Given the description of an element on the screen output the (x, y) to click on. 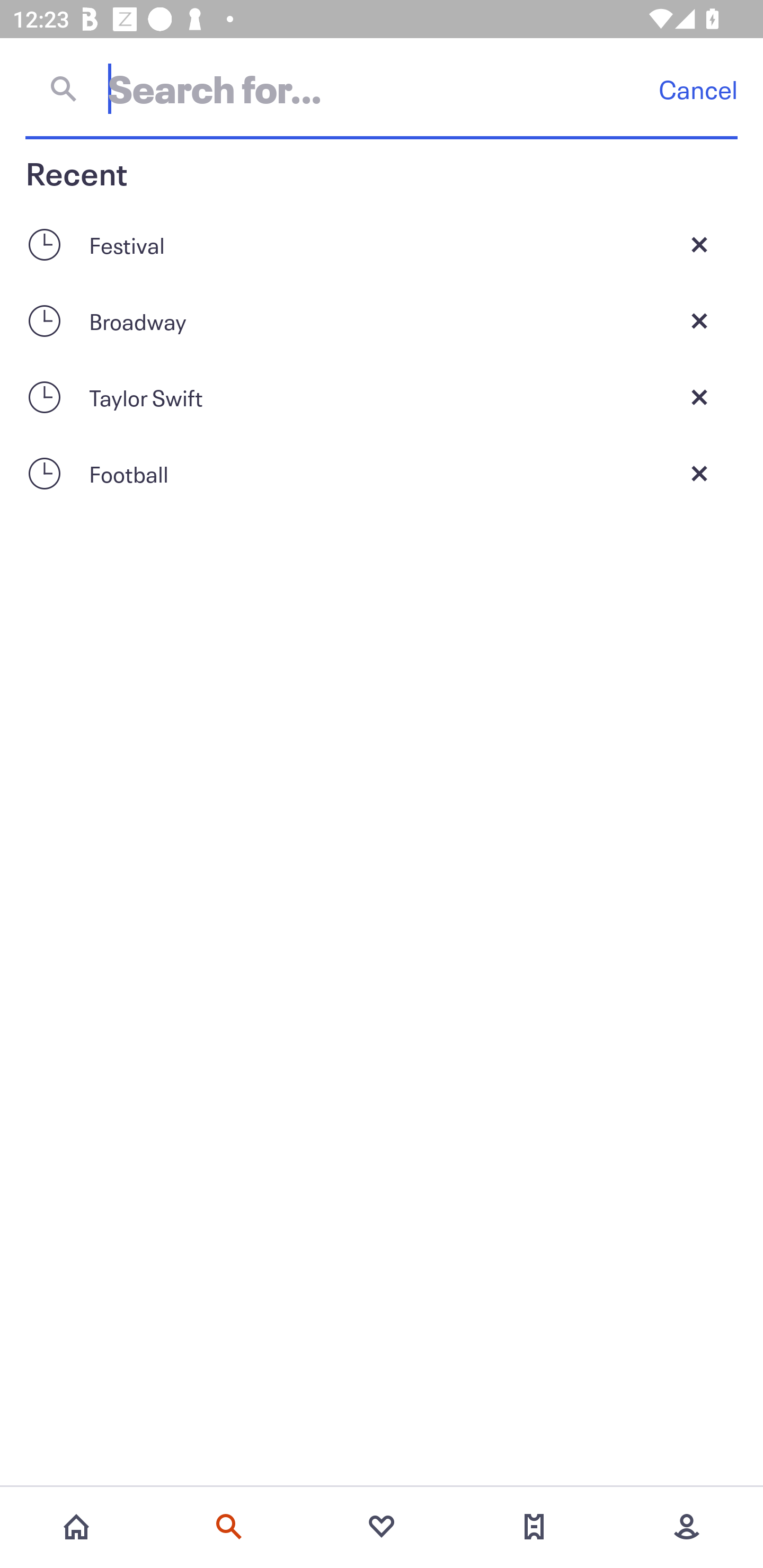
Cancel Search for… (381, 88)
Cancel (697, 89)
Festival Close current screen (381, 244)
Close current screen (699, 244)
Broadway Close current screen (381, 320)
Close current screen (699, 320)
Taylor Swift Close current screen (381, 397)
Close current screen (699, 397)
Football Close current screen (381, 473)
Close current screen (699, 473)
Home (76, 1526)
Search events (228, 1526)
Favorites (381, 1526)
Tickets (533, 1526)
More (686, 1526)
